Given the description of an element on the screen output the (x, y) to click on. 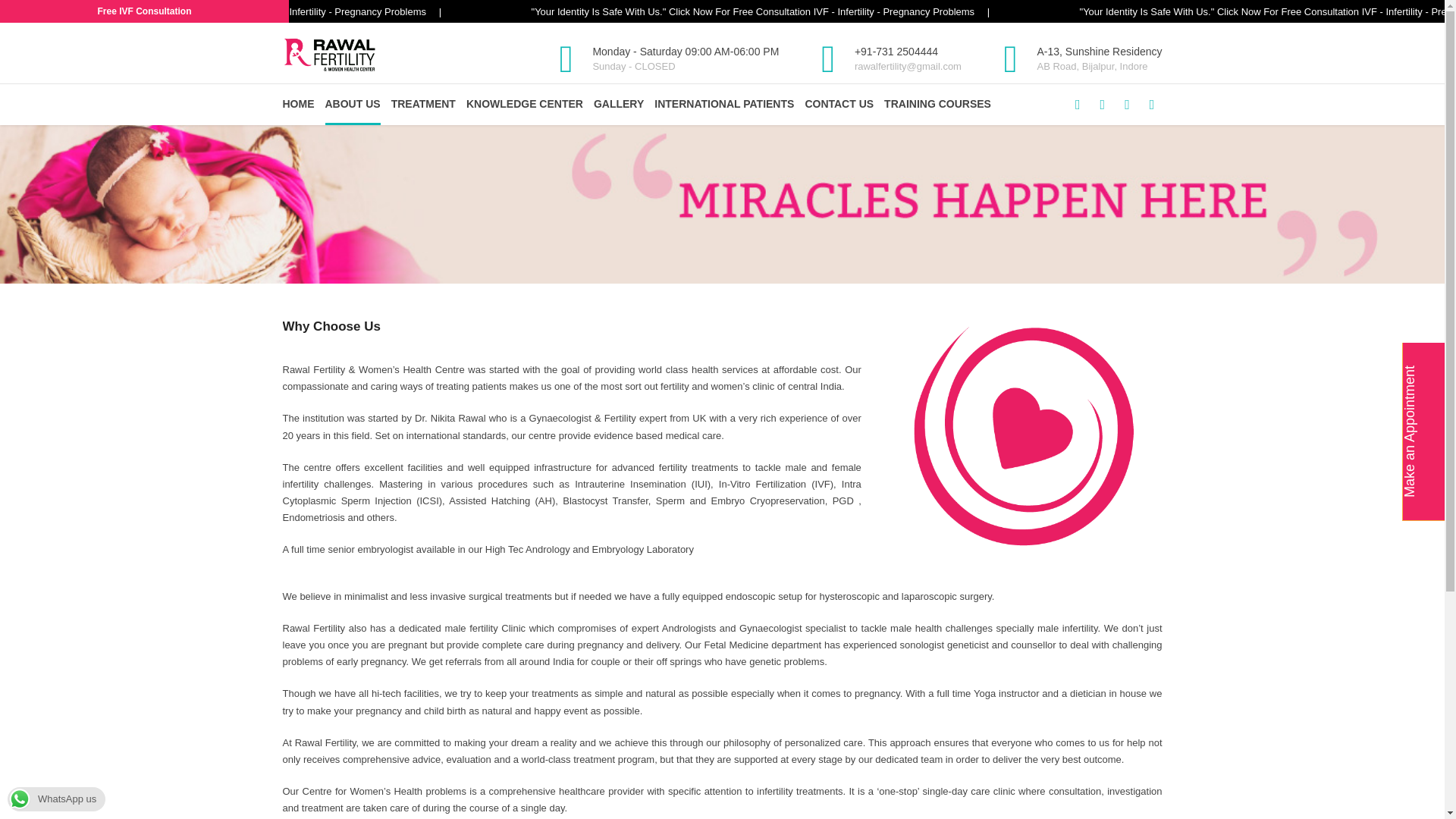
TREATMENT (423, 104)
ABOUT US (352, 104)
